Given the description of an element on the screen output the (x, y) to click on. 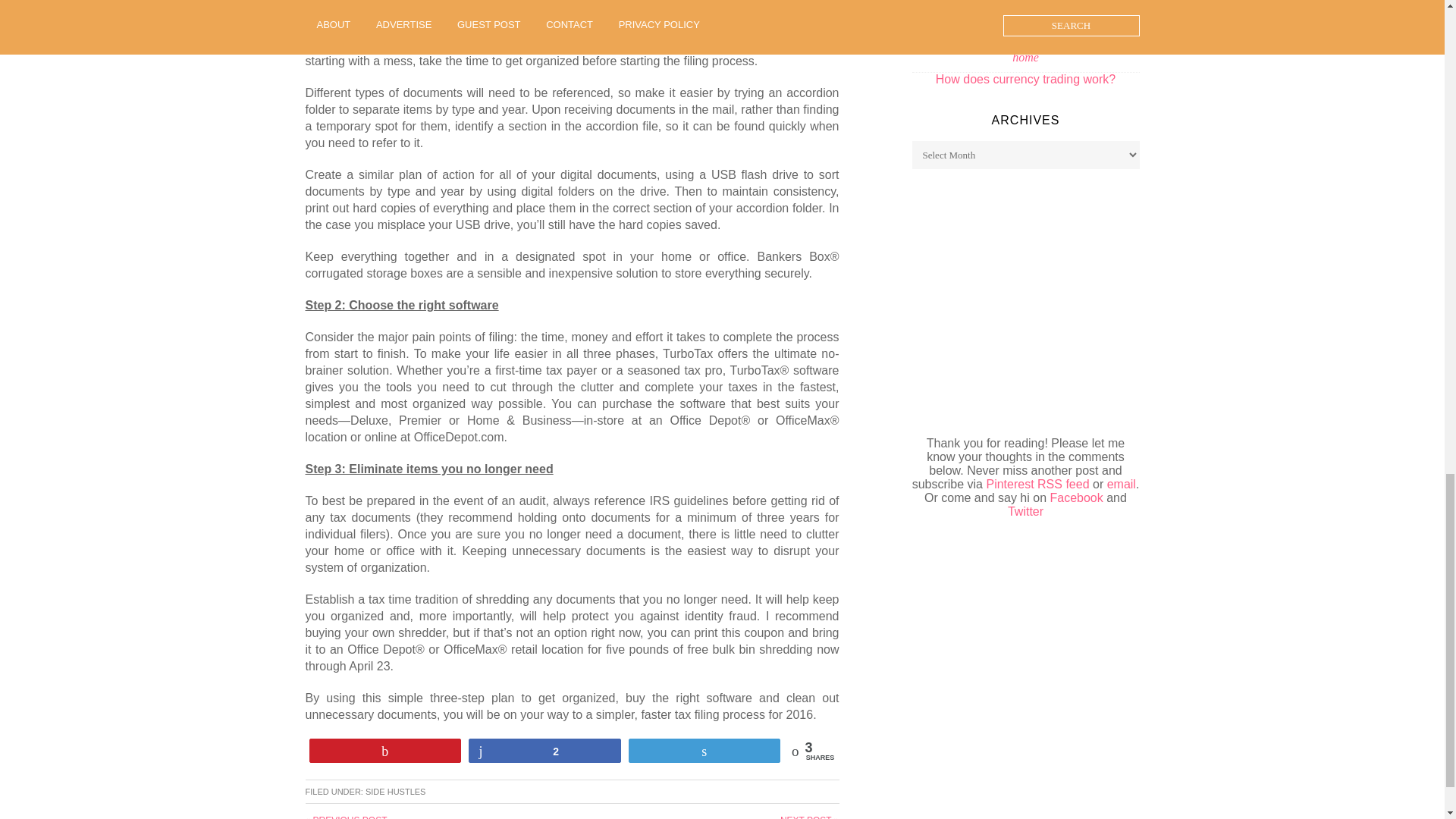
Facebook (1075, 497)
Pinterest (1009, 483)
RSS feed (1062, 483)
email (1120, 483)
How does currency trading work? (1025, 78)
Discover new ways to make money from home (1025, 49)
SIDE HUSTLES (395, 791)
2 (544, 750)
